Given the description of an element on the screen output the (x, y) to click on. 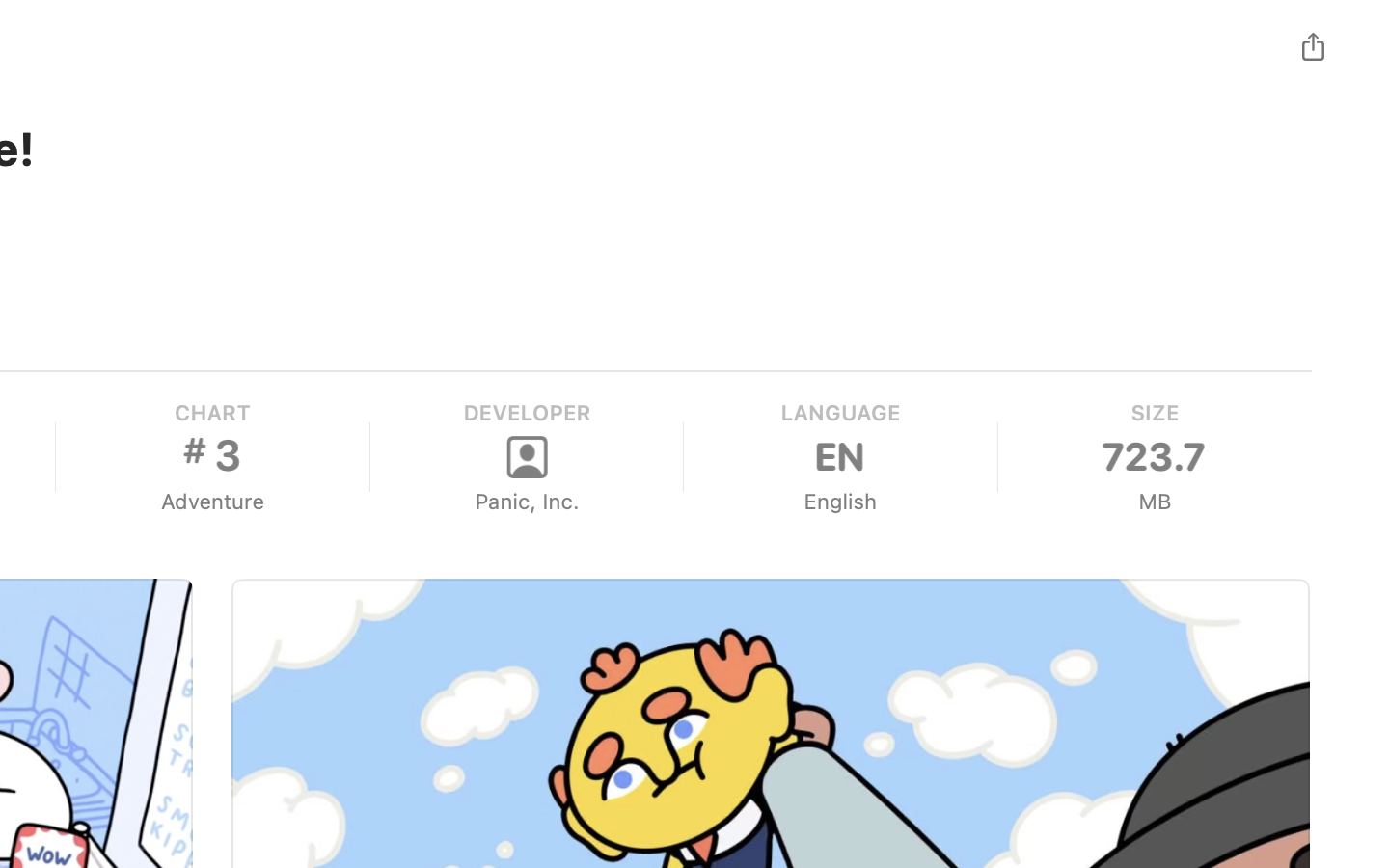
MB, SIZE, 723.7 Element type: AXStaticText (1153, 456)
Panic, Inc. Element type: AXStaticText (526, 501)
SIZE Element type: AXStaticText (1153, 412)
3 Element type: AXStaticText (212, 455)
CHART Element type: AXStaticText (212, 412)
